Given the description of an element on the screen output the (x, y) to click on. 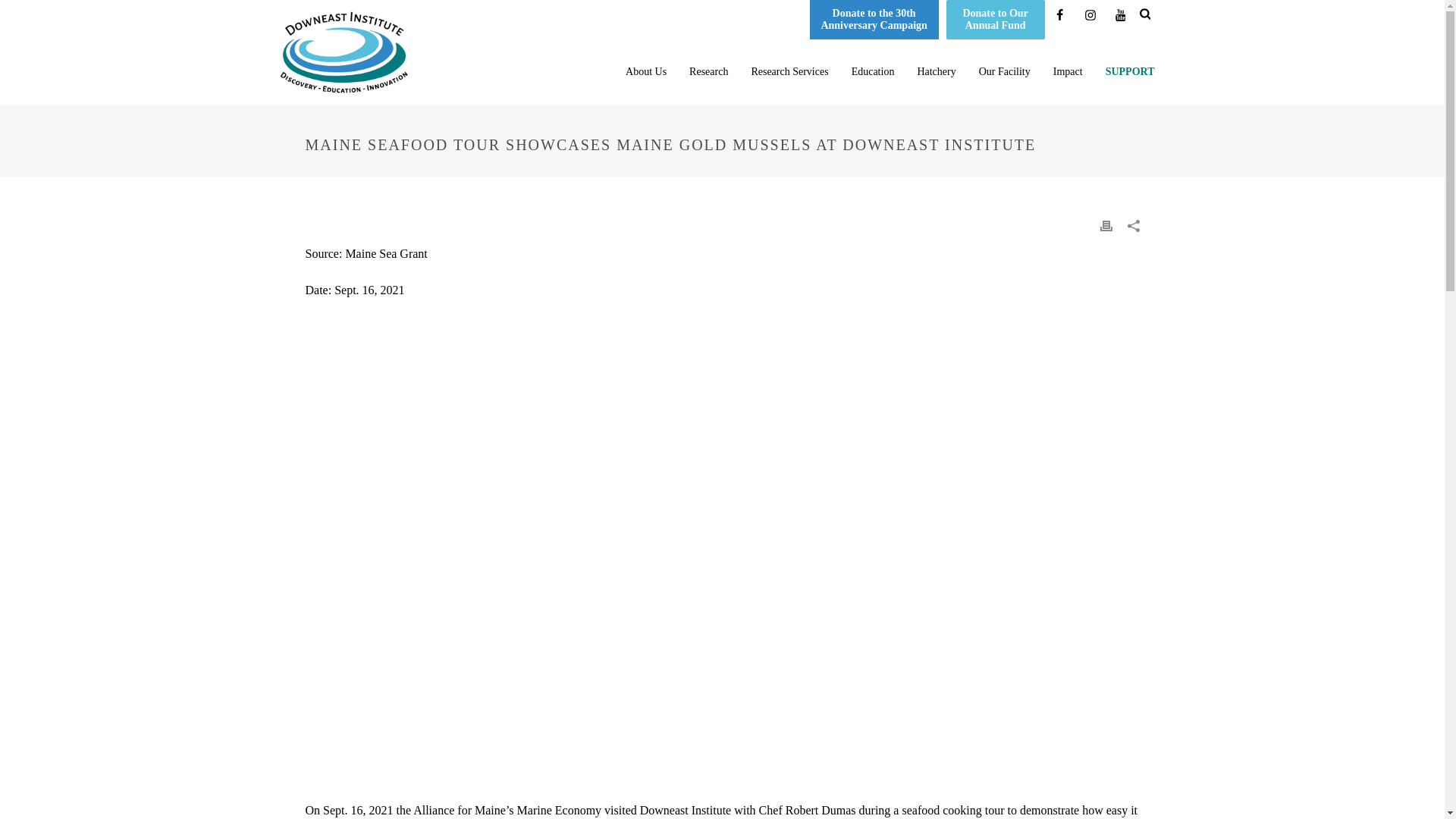
Research (708, 62)
Education (872, 62)
Donate to the 30th Anniversary Campaign (874, 19)
About Us (646, 62)
Hatchery (935, 62)
About Us (646, 62)
Discovery. Education. Innovation. (343, 52)
Donate to Our Annual Fund (995, 19)
Impact (1068, 62)
Research Services (789, 62)
